Given the description of an element on the screen output the (x, y) to click on. 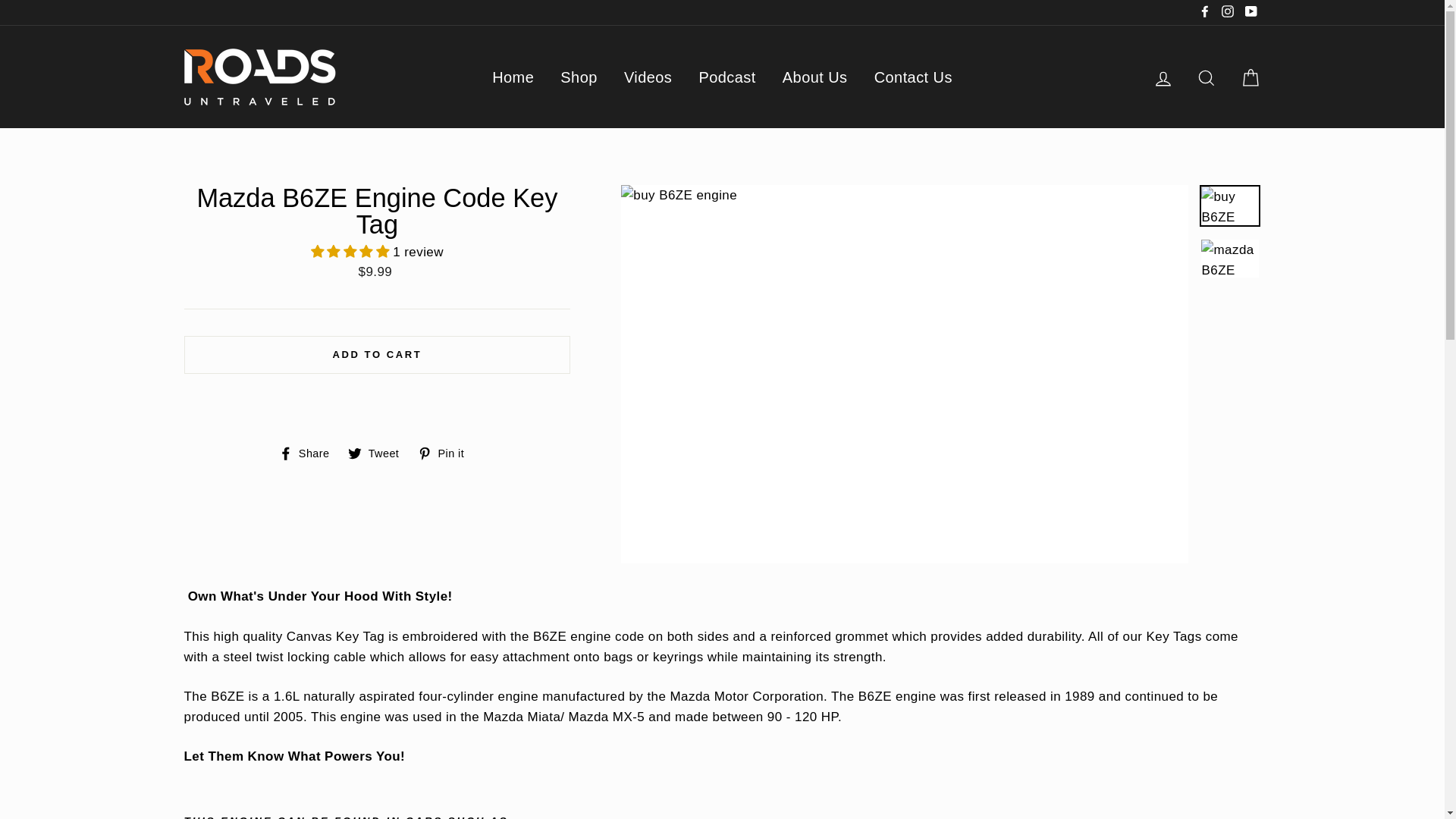
Tweet on Twitter (378, 452)
Share on Facebook (309, 452)
Shop (578, 76)
Pin on Pinterest (446, 452)
Home (512, 76)
